Given the description of an element on the screen output the (x, y) to click on. 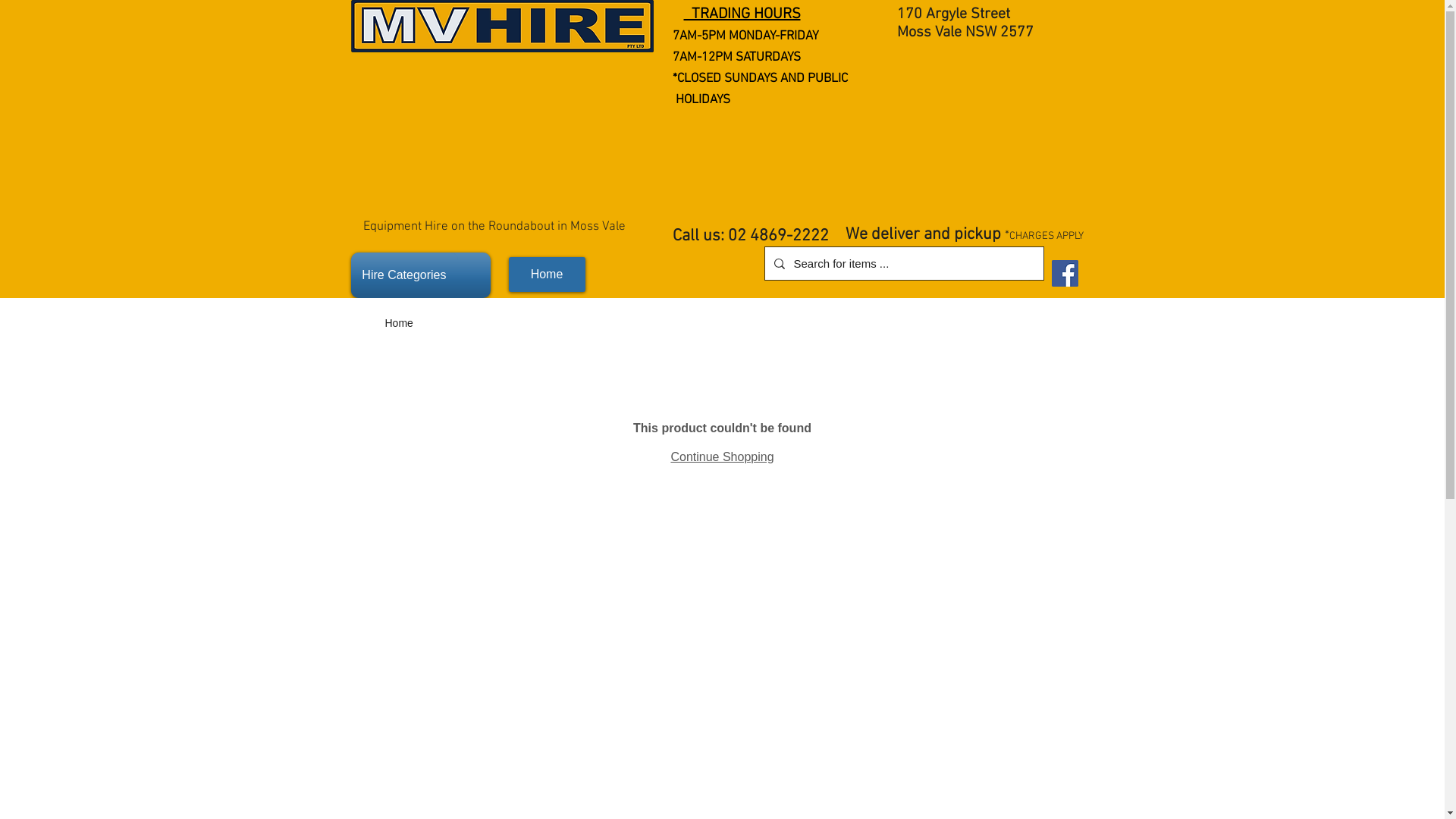
www.mvhire.com.au Element type: text (967, 275)
Moss Vale NSW 2577 Element type: text (964, 32)
Home Element type: text (546, 274)
170 Argyle Street Element type: text (952, 14)
Continue Shopping Element type: text (721, 456)
Home Element type: text (399, 322)
